Given the description of an element on the screen output the (x, y) to click on. 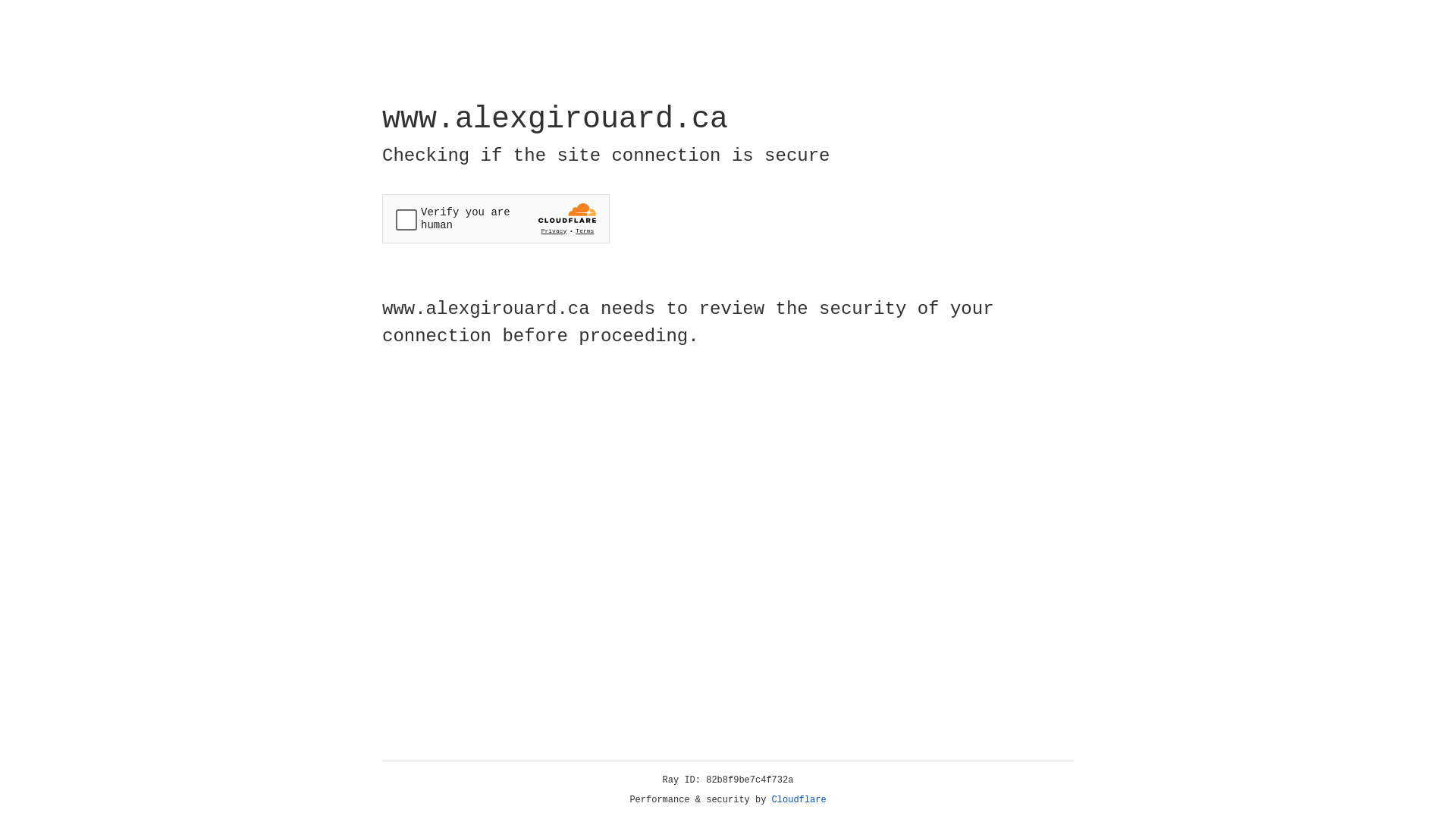
Widget containing a Cloudflare security challenge Element type: hover (495, 218)
Cloudflare Element type: text (798, 799)
